Given the description of an element on the screen output the (x, y) to click on. 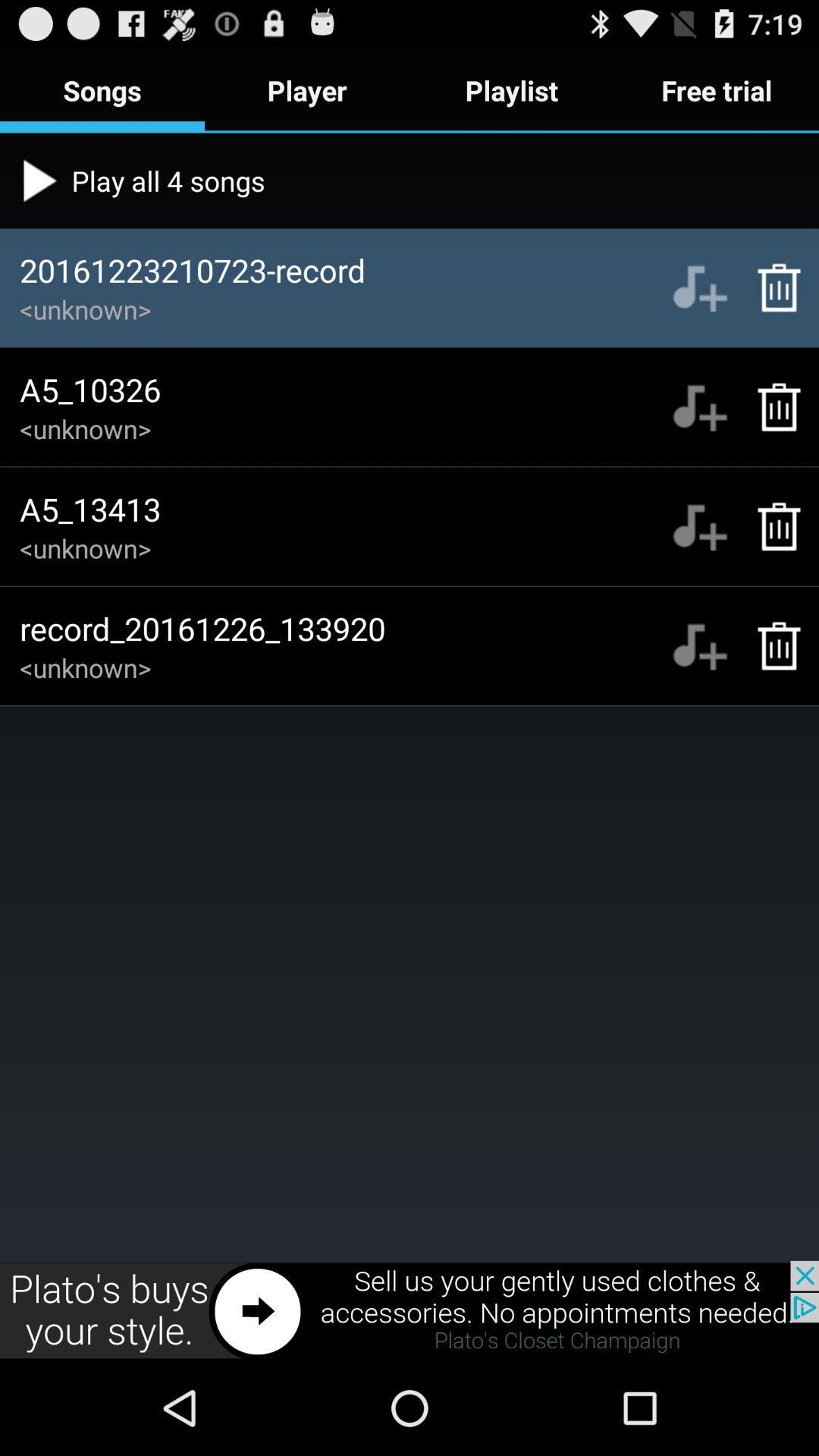
place recording in recycle bin (771, 645)
